Given the description of an element on the screen output the (x, y) to click on. 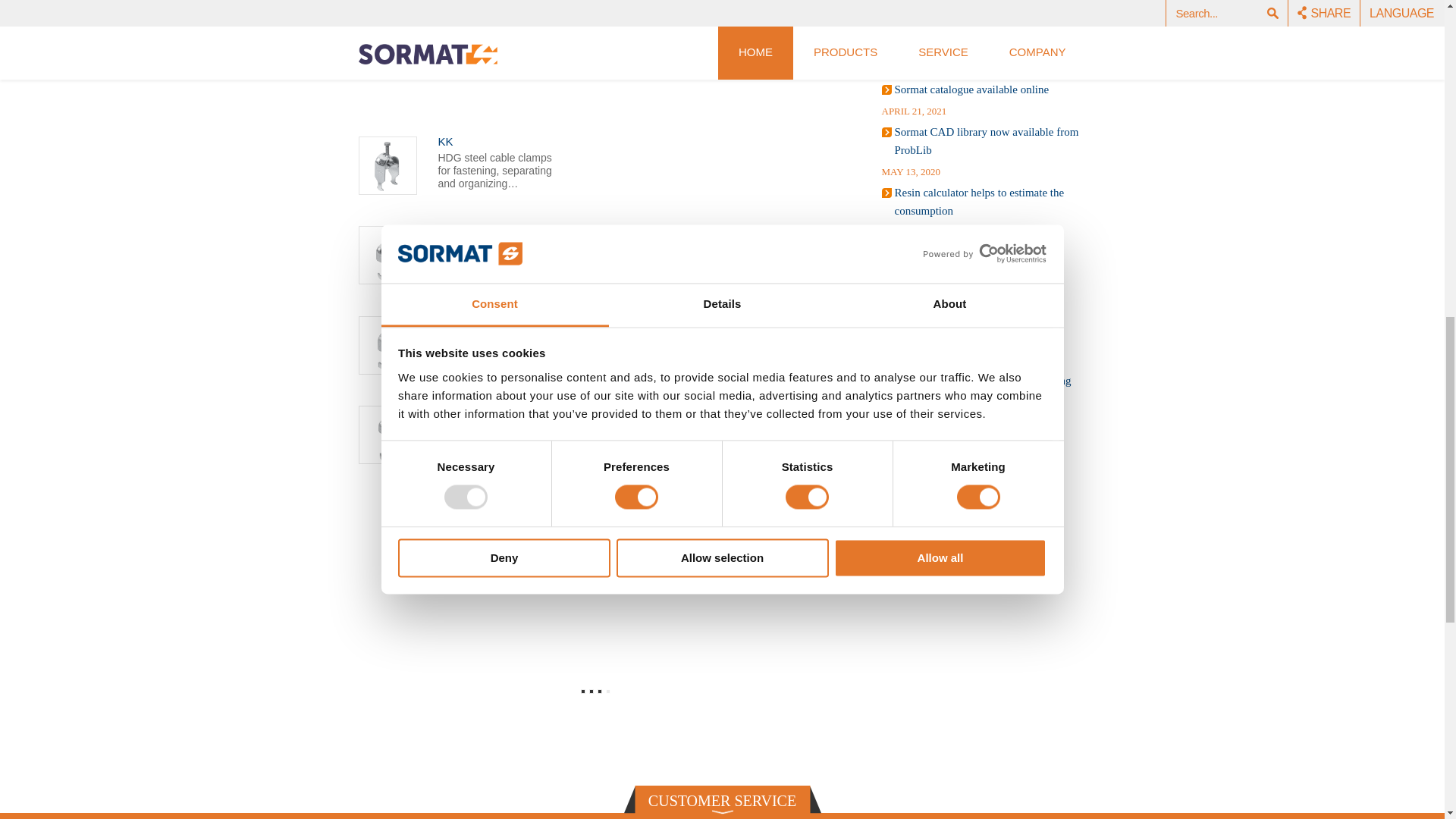
Metal anchors for chemical fastening (979, 253)
Sormat CAD library now available from ProbLib (986, 141)
Resin calculator helps to estimate the consumption (979, 201)
Sormat catalogue available online (972, 89)
Additional embedment depths and approved reusage (973, 37)
S-CSA with Multi Layer coating (969, 295)
